Given the description of an element on the screen output the (x, y) to click on. 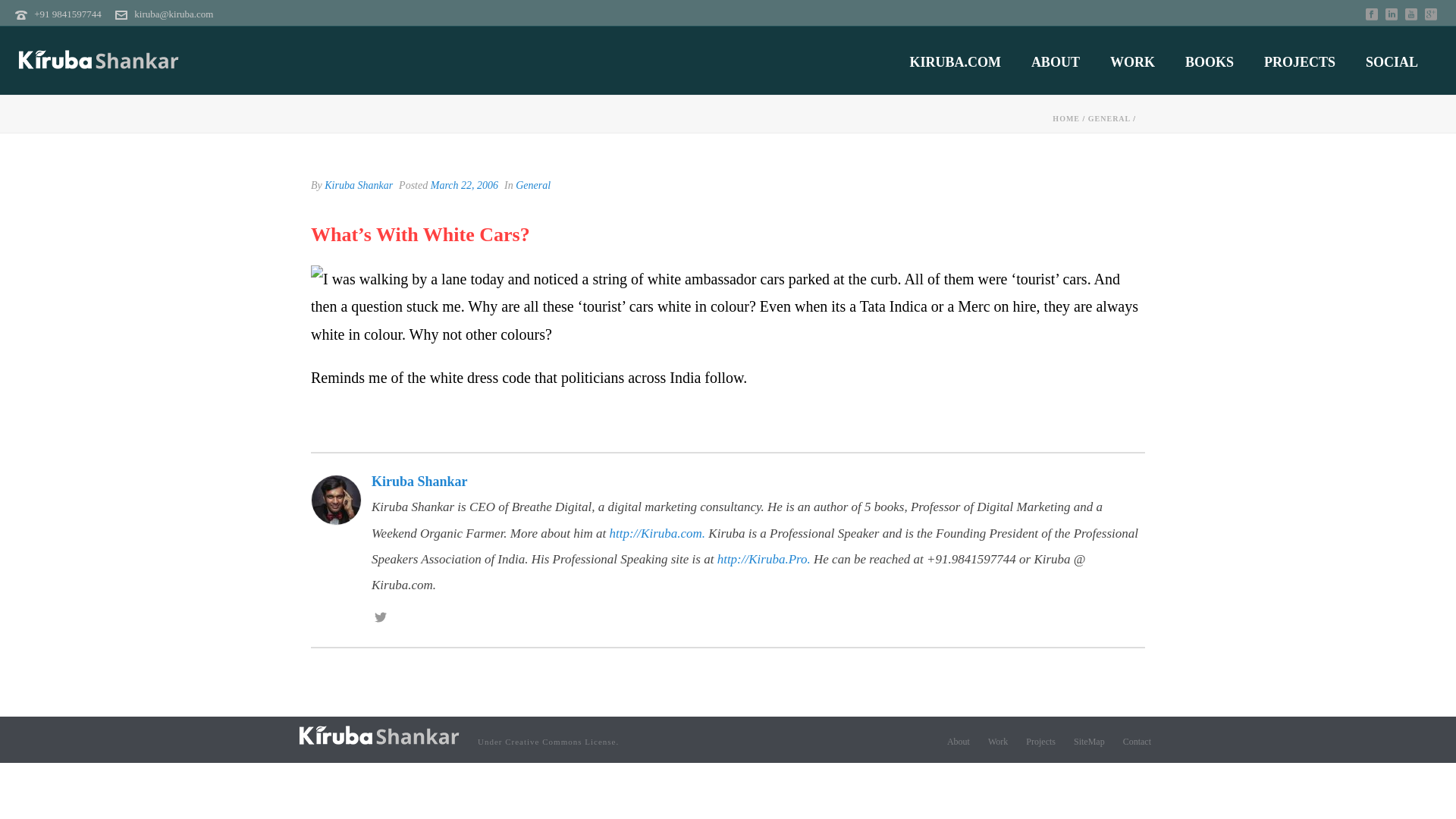
KIRUBA.COM (954, 62)
BOOKS (1209, 62)
ABOUT (1055, 62)
KIRUBA.COM (954, 62)
ABOUT (1055, 62)
BOOKS (1209, 62)
The Personal Website of Kiruba Shankar (98, 60)
kiruba.com (379, 735)
PROJECTS (1300, 62)
PROJECTS (1300, 62)
